Given the description of an element on the screen output the (x, y) to click on. 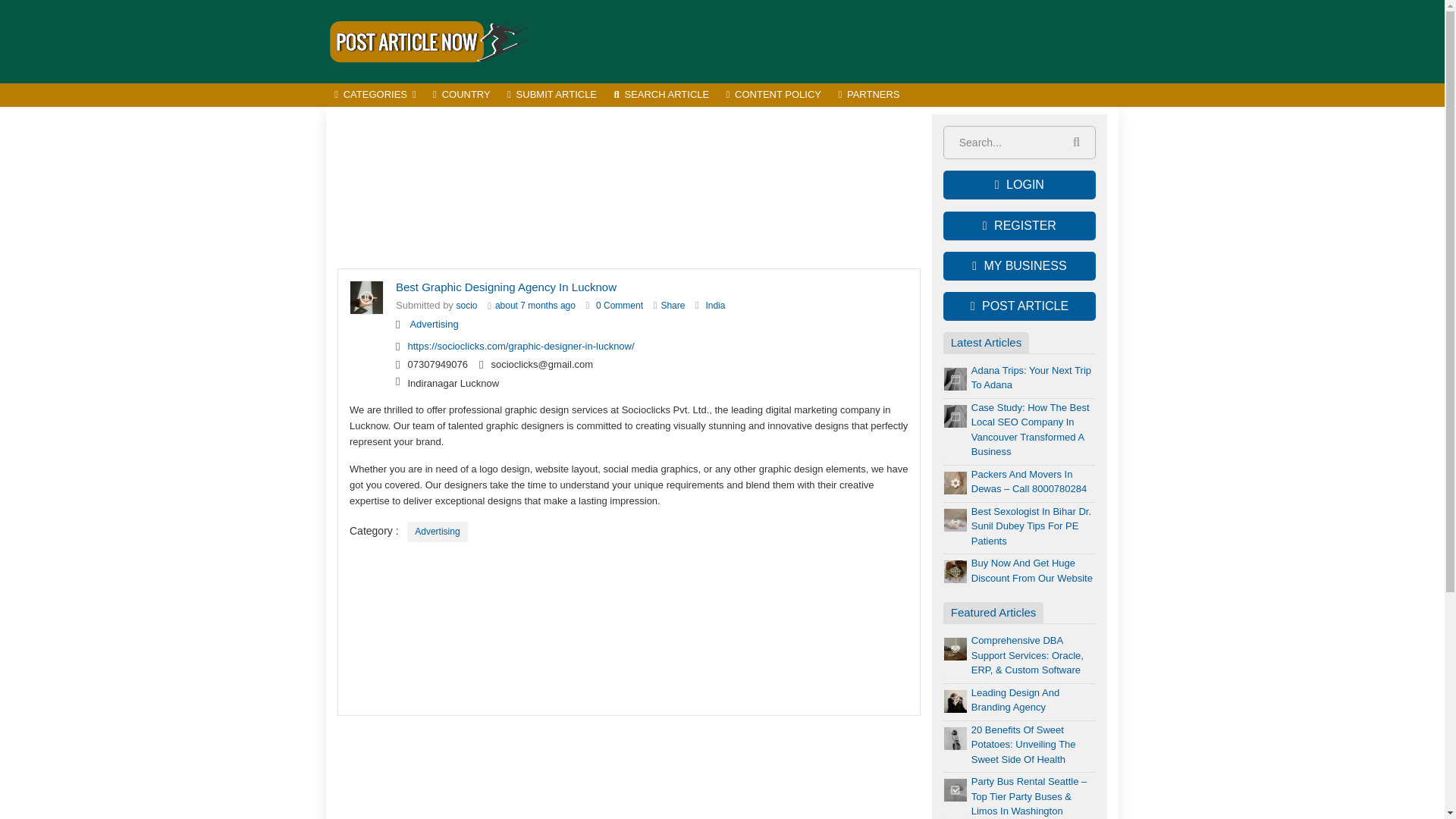
CONTENT POLICY (773, 95)
Advertisement (842, 41)
socio (467, 305)
SUBMIT ARTICLE (552, 95)
about 7 months ago (535, 305)
LOGIN (1019, 184)
Advertising (433, 324)
COUNTRY (462, 95)
POST ARTICLE (1019, 306)
India (714, 305)
